Given the description of an element on the screen output the (x, y) to click on. 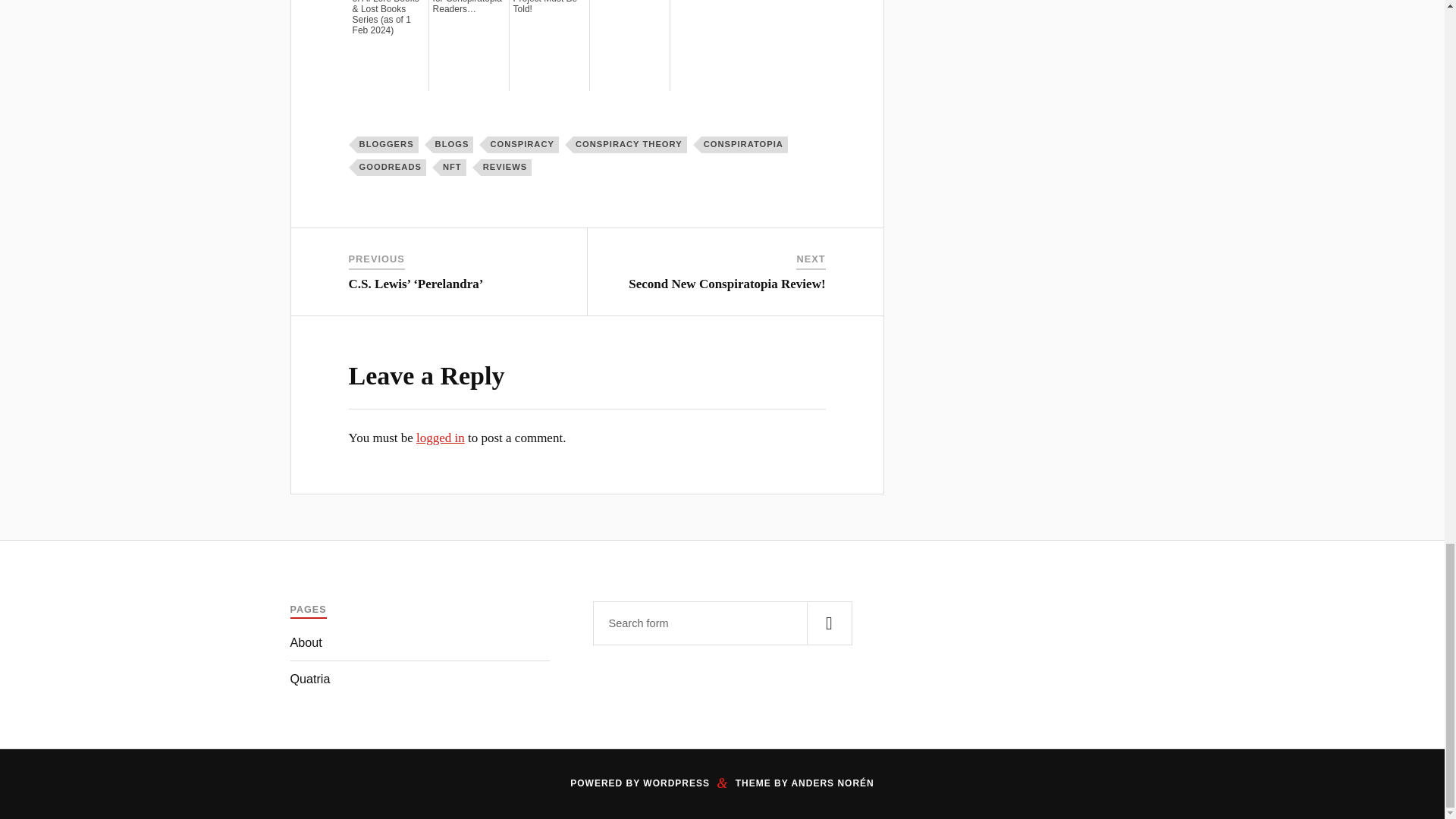
The Truth About the Conspiratopia Project Must Be Told! (549, 7)
BLOGGERS (387, 144)
CONSPIRACY (523, 144)
BLOGS (453, 144)
CONSPIRACY THEORY (630, 144)
